Given the description of an element on the screen output the (x, y) to click on. 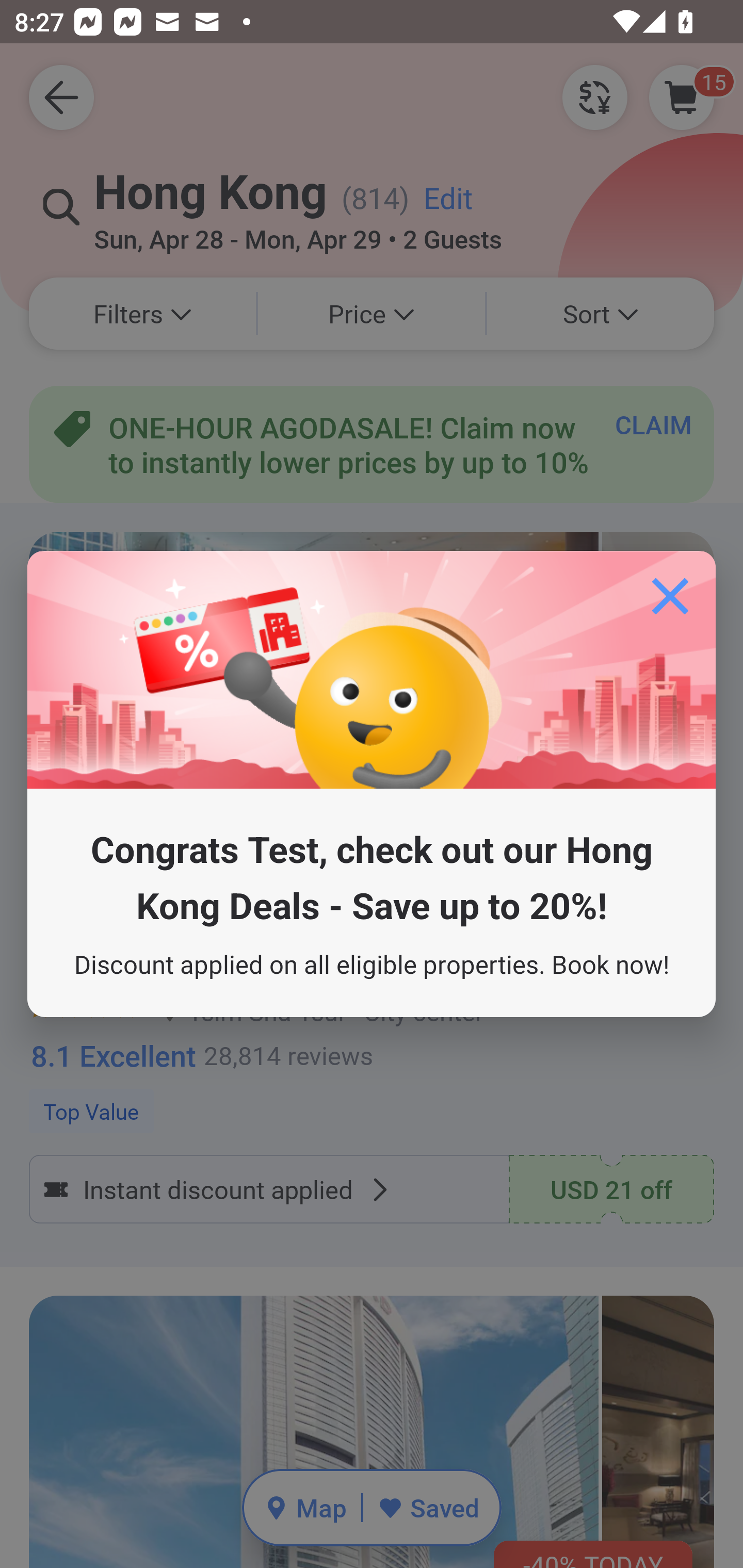
Close (670, 596)
